Given the description of an element on the screen output the (x, y) to click on. 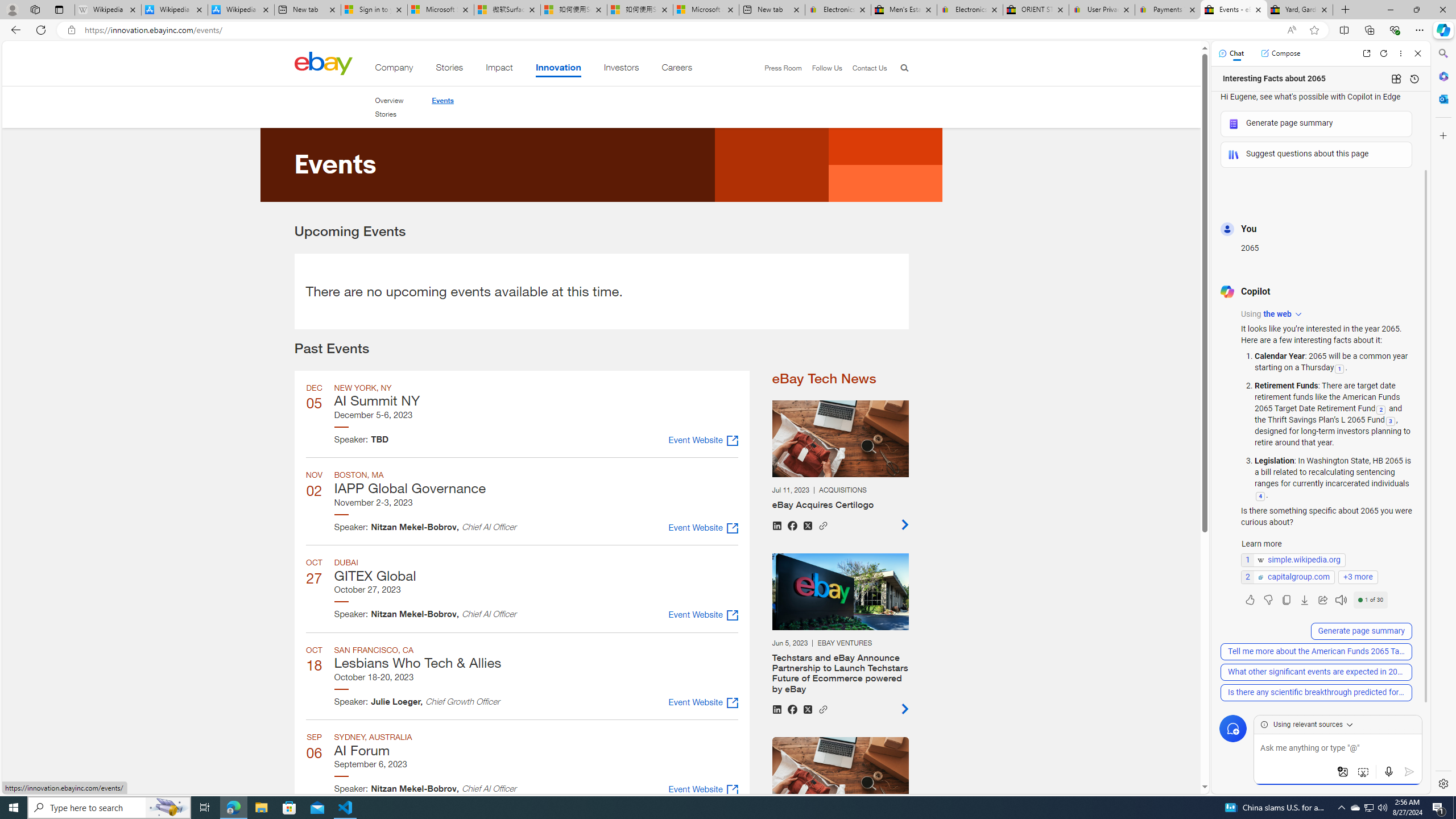
Events (442, 99)
Stories (385, 113)
Overview (388, 99)
Investors (620, 69)
Events - eBay Inc. (1233, 9)
Yard, Garden & Outdoor Living (1300, 9)
Share on Facebook (792, 709)
